Given the description of an element on the screen output the (x, y) to click on. 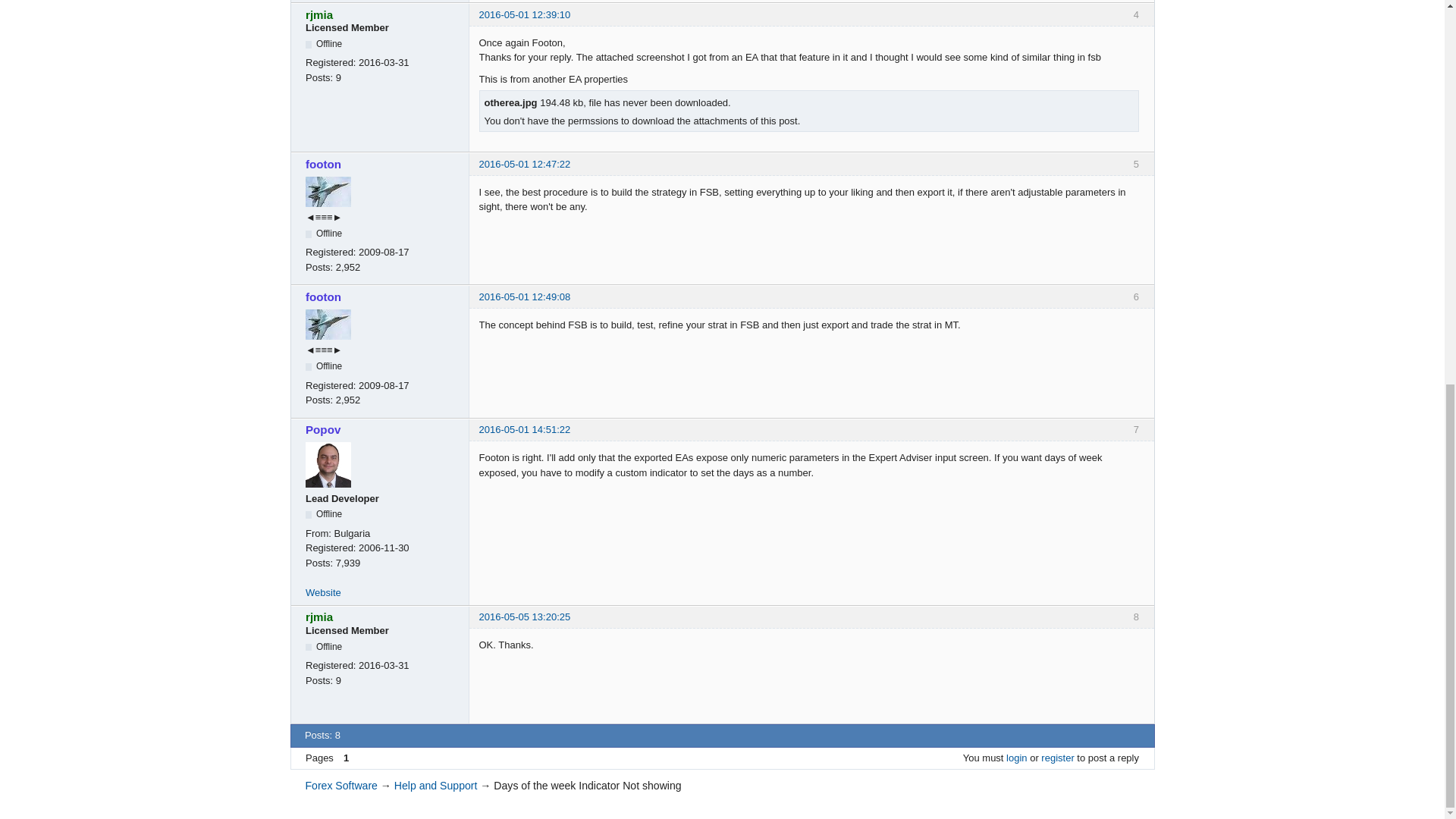
rjmia (381, 14)
Permanent link to this post (524, 14)
Permanent link to this post (524, 163)
Go to rjmia's profile (381, 14)
Go to footon's profile (381, 164)
